Given the description of an element on the screen output the (x, y) to click on. 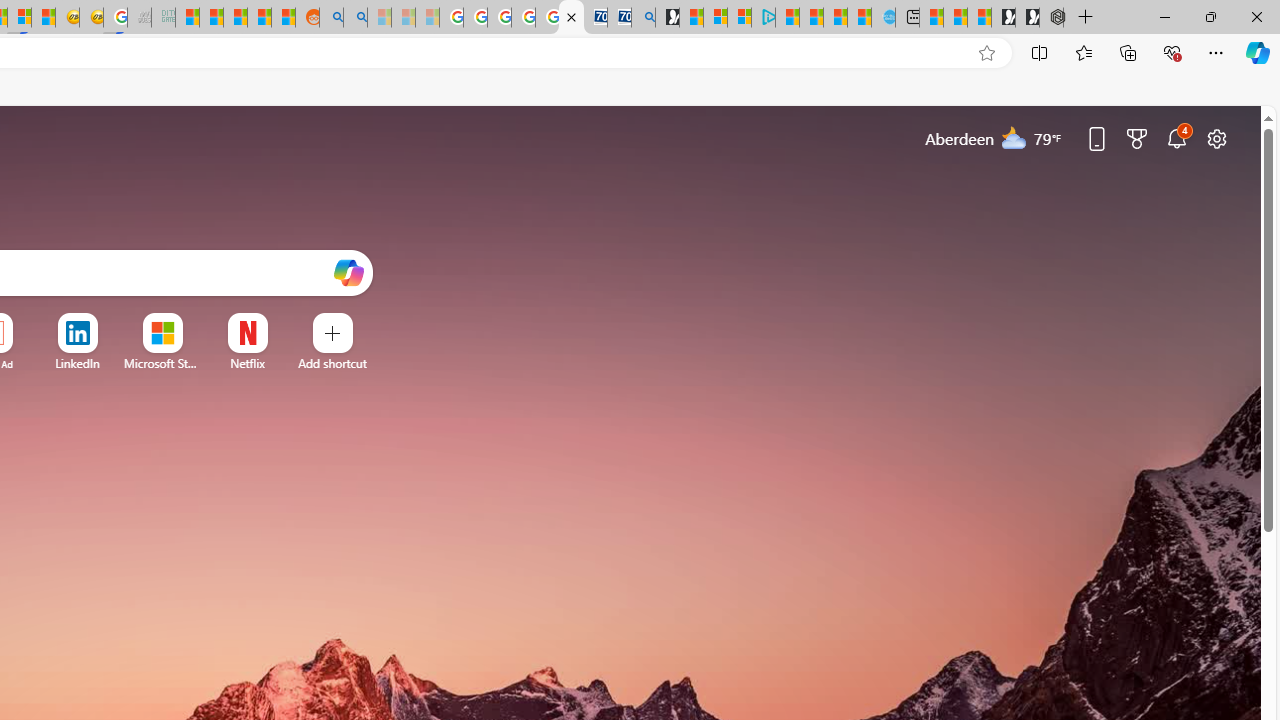
Microsoft account | Privacy (739, 17)
Netflix (247, 363)
Ad (6, 363)
Page settings (1216, 138)
Add a site (332, 363)
Bing Real Estate - Home sales and rental listings (643, 17)
MSNBC - MSN (186, 17)
